Given the description of an element on the screen output the (x, y) to click on. 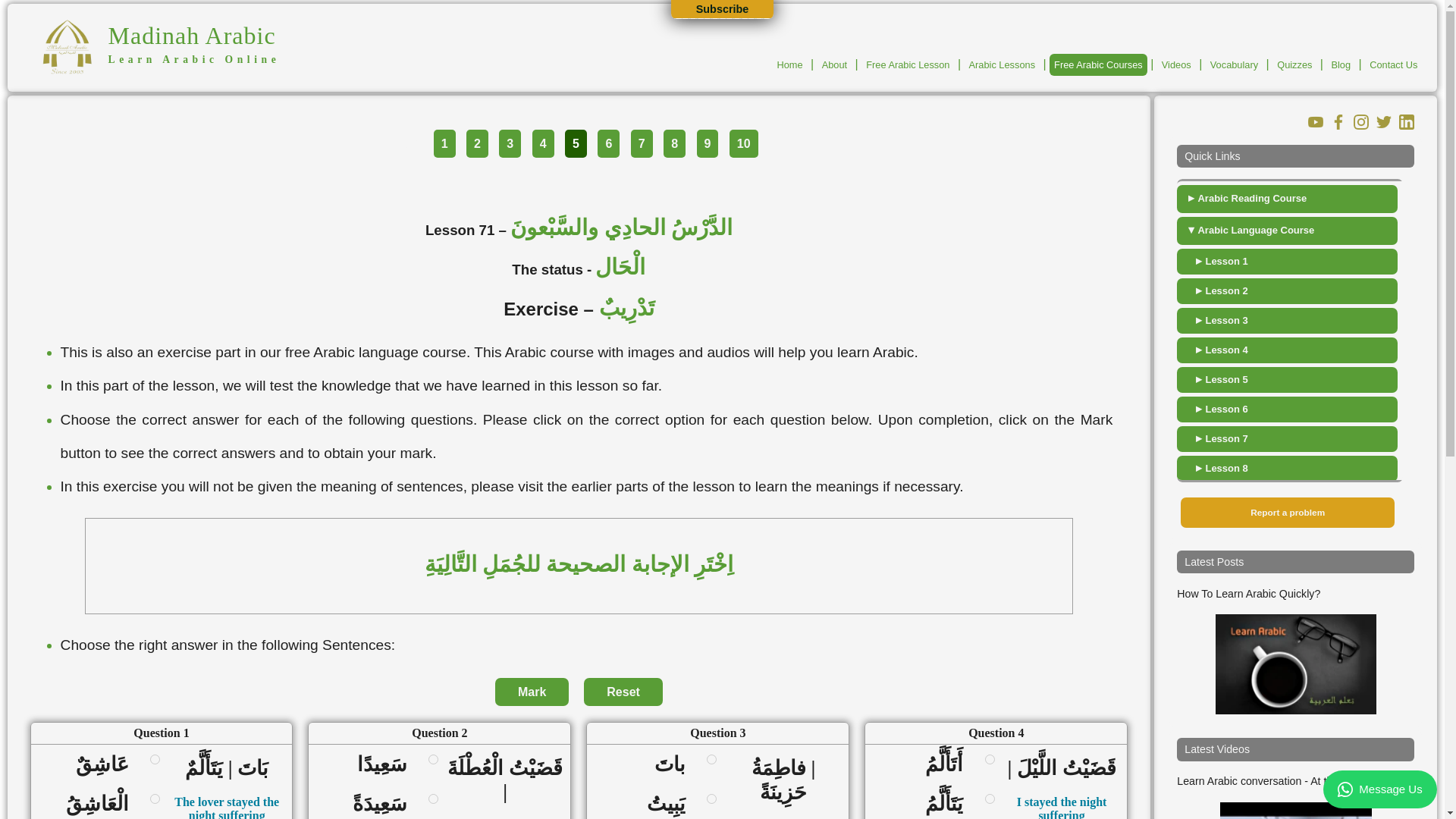
Free Arabic Lesson (907, 65)
10 (743, 143)
on (433, 759)
on (154, 798)
Arabic Blog (1340, 65)
Reset (622, 691)
Contact Us (1393, 65)
Arabic Lessons (1002, 65)
on (154, 759)
Free Arabic Courses (1098, 65)
